Given the description of an element on the screen output the (x, y) to click on. 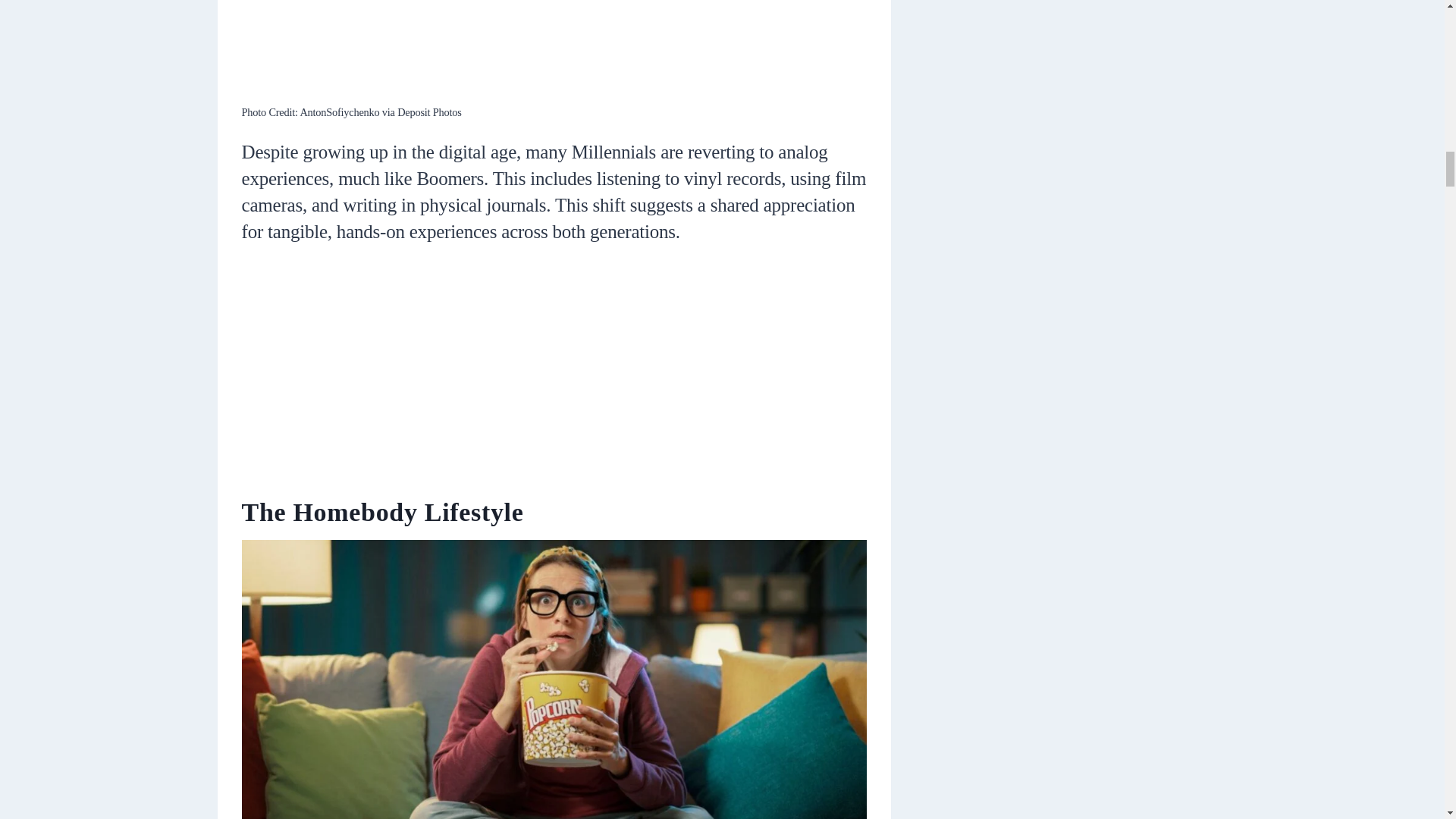
18 Reasons Why Millennials Just Might Be the New Boomers 4 (554, 49)
